Given the description of an element on the screen output the (x, y) to click on. 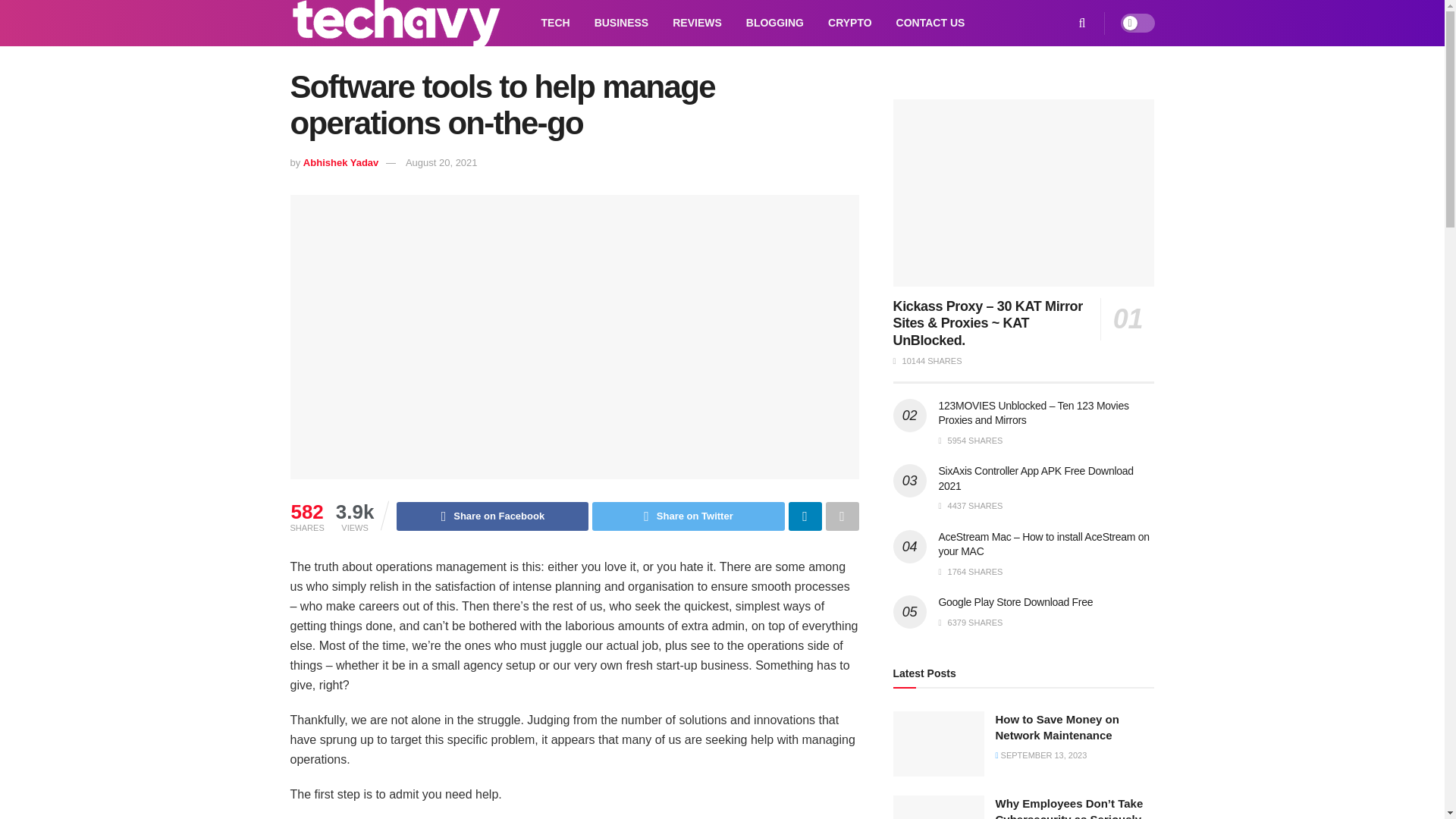
BUSINESS (621, 22)
CONTACT US (929, 22)
REVIEWS (697, 22)
CRYPTO (849, 22)
BLOGGING (774, 22)
TECH (555, 22)
